Given the description of an element on the screen output the (x, y) to click on. 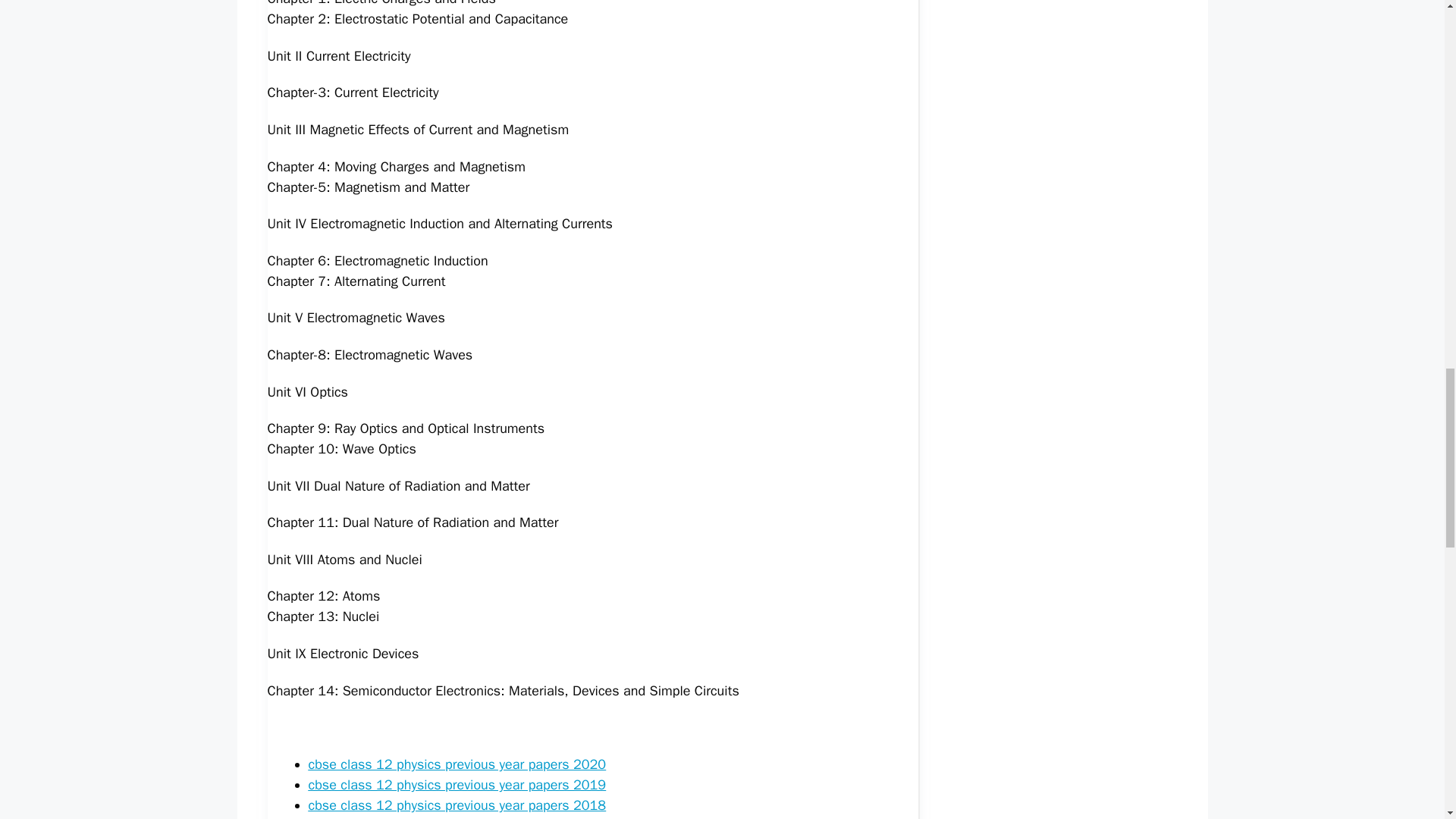
cbse class 12 physics previous year papers 2019 (456, 784)
cbse class 12 physics previous year papers 2018 (456, 805)
cbse class 12 physics previous year papers 2020 (456, 764)
